Given the description of an element on the screen output the (x, y) to click on. 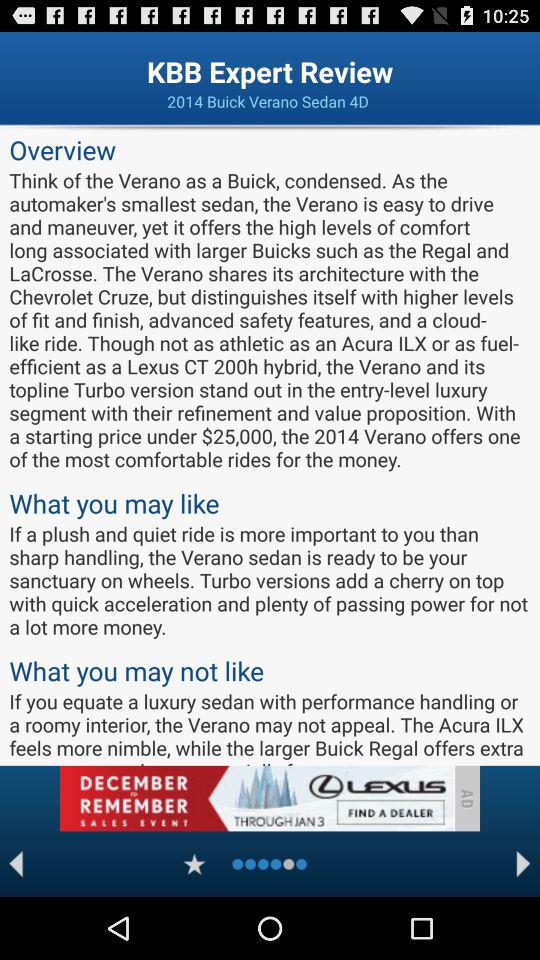
go previous (16, 864)
